Given the description of an element on the screen output the (x, y) to click on. 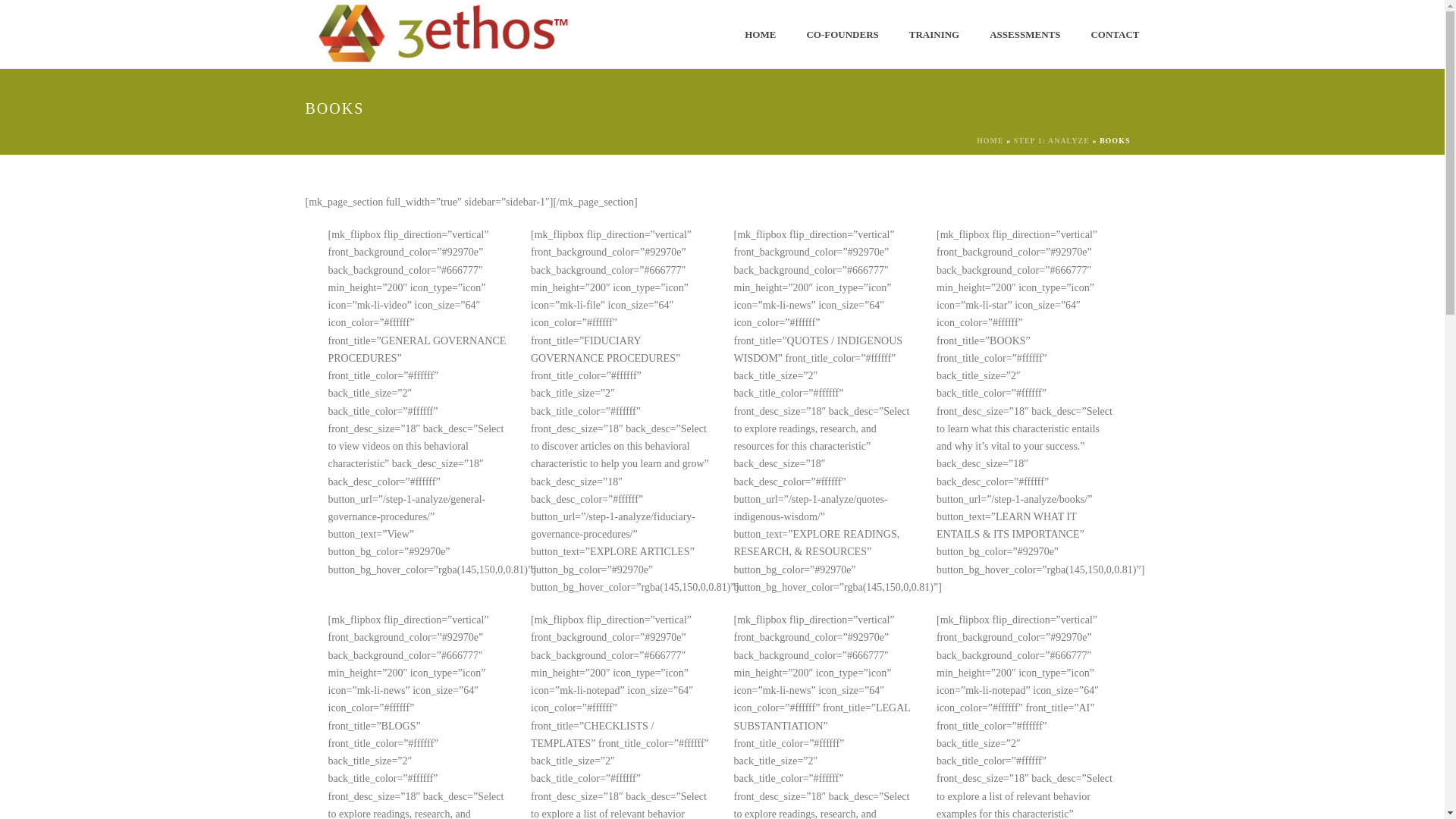
CO-FOUNDERS (841, 34)
ASSESSMENTS (1024, 34)
HOME (990, 140)
HOME (759, 34)
CONTACT (1114, 34)
TRAINING (933, 34)
CONTACT (1114, 34)
ASSESSMENTS (1024, 34)
STEP 1: ANALYZE (1051, 140)
HOME (759, 34)
TRAINING (933, 34)
CO-FOUNDERS (841, 34)
